Given the description of an element on the screen output the (x, y) to click on. 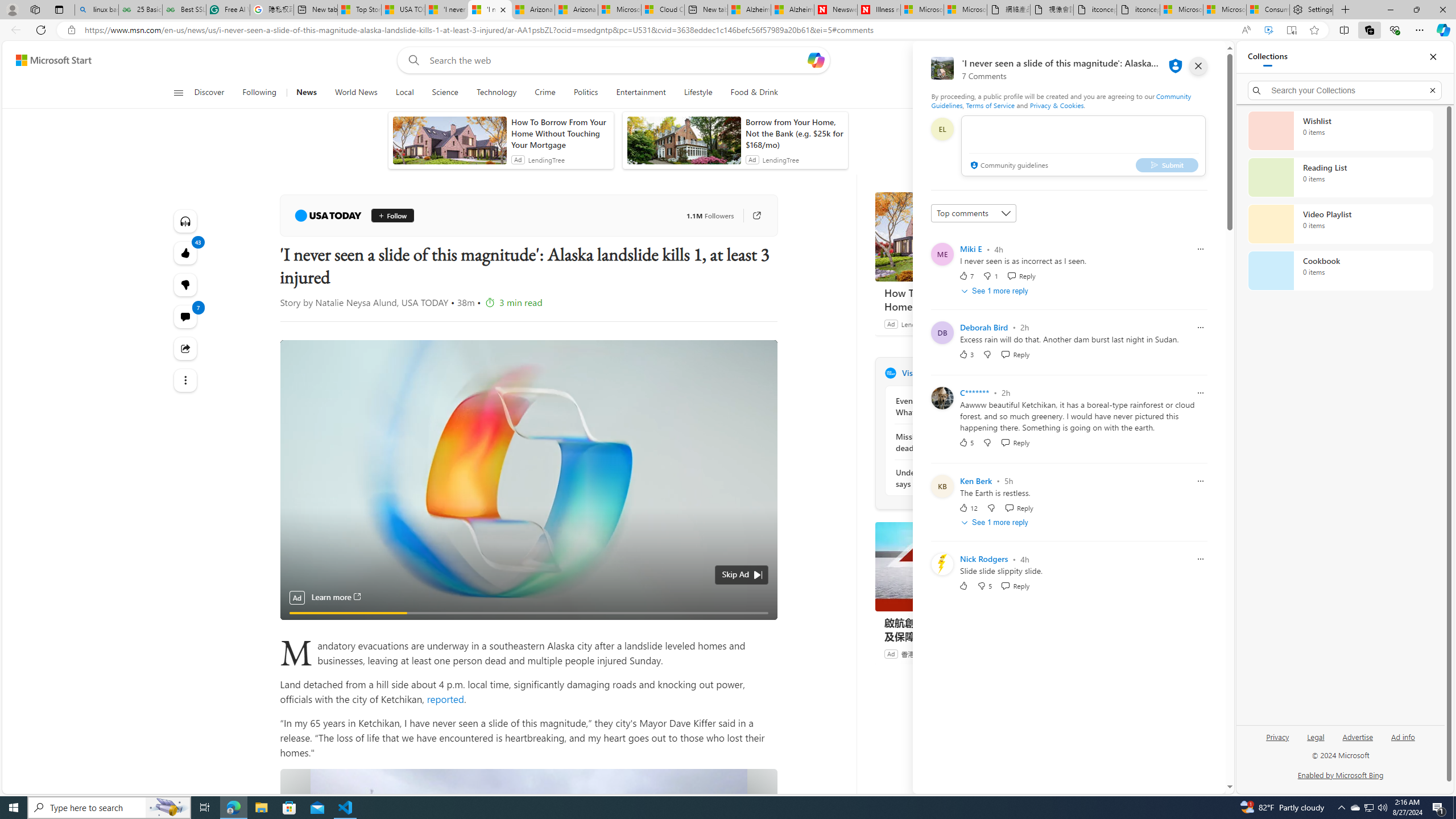
Report comment (1200, 558)
Consumer Health Data Privacy Policy (1267, 9)
Profile Picture (941, 563)
Deborah Bird (984, 327)
